Given the description of an element on the screen output the (x, y) to click on. 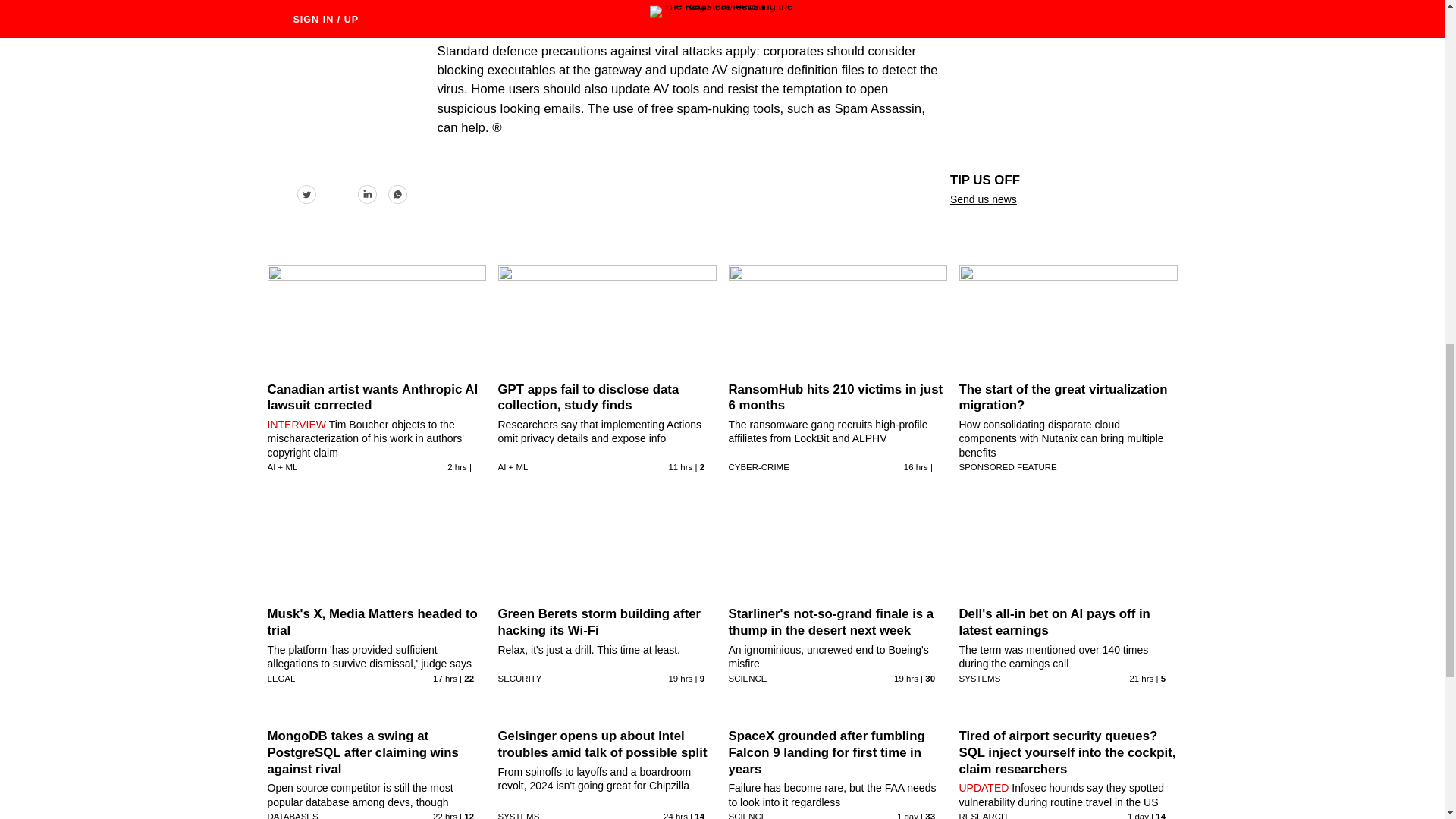
30 Aug 2024 16:0 (675, 815)
30 Aug 2024 23:55 (916, 466)
30 Aug 2024 22:30 (444, 678)
30 Aug 2024 17:30 (444, 815)
30 Aug 2024 14:34 (907, 815)
30 Aug 2024 13:28 (1137, 815)
30 Aug 2024 21:0 (680, 678)
31 Aug 2024 13:29 (456, 466)
30 Aug 2024 19:0 (1141, 678)
31 Aug 2024 5:0 (680, 466)
